Given the description of an element on the screen output the (x, y) to click on. 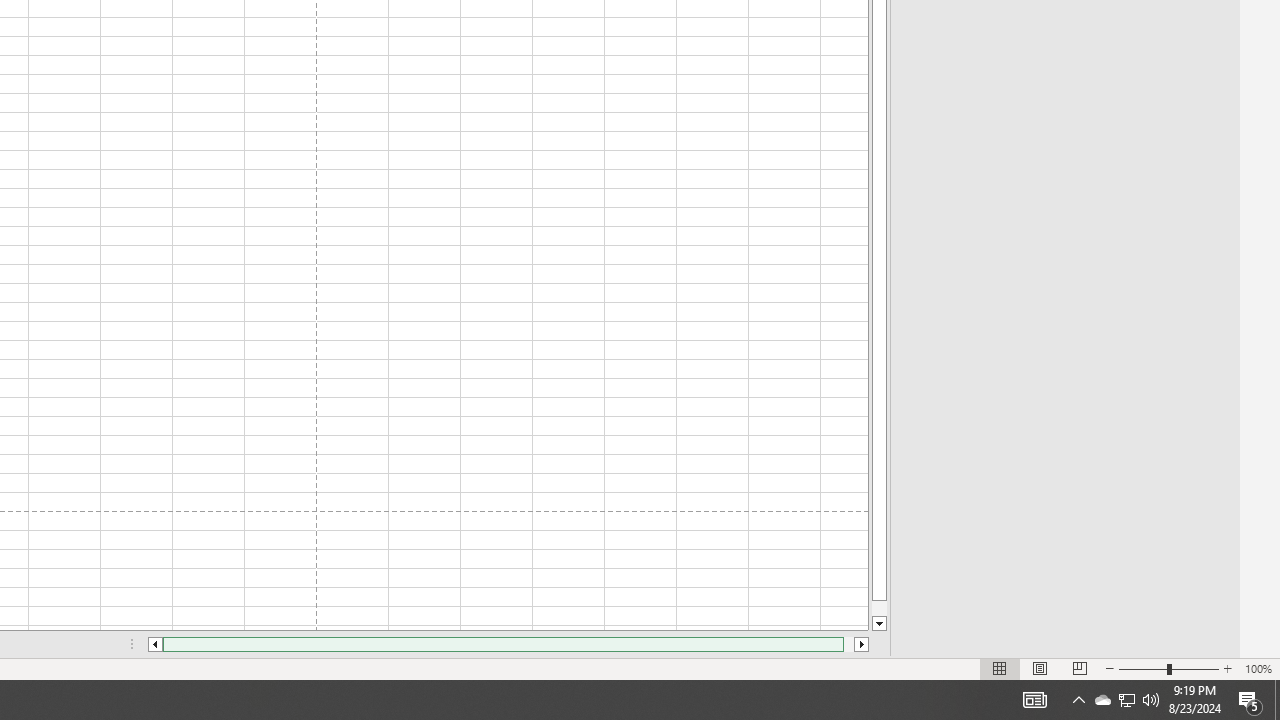
Page right (848, 644)
Page down (879, 608)
